Given the description of an element on the screen output the (x, y) to click on. 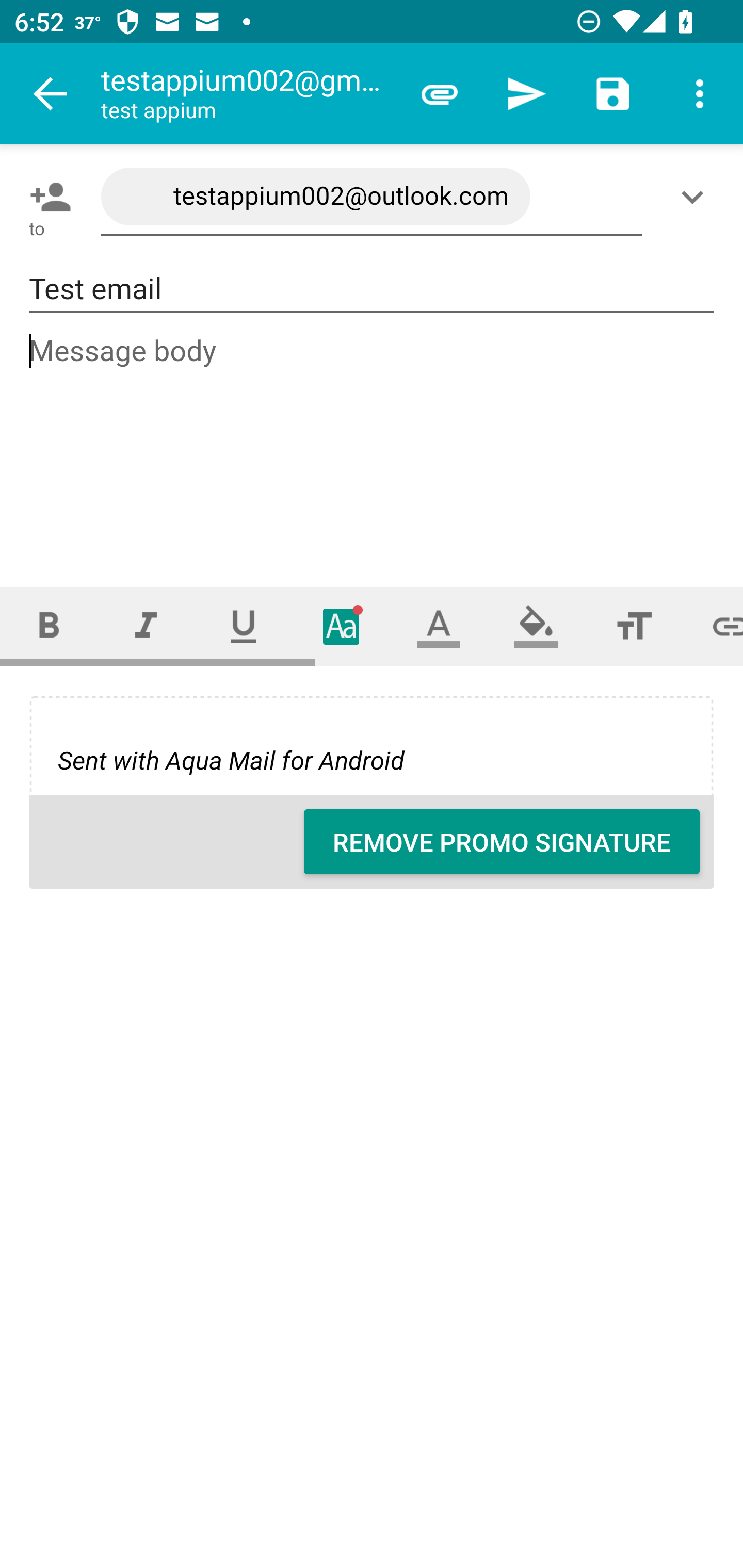
Navigate up (50, 93)
testappium002@gmail.com test appium (248, 93)
Attach (439, 93)
Send (525, 93)
Save (612, 93)
More options (699, 93)
testappium002@outlook.com,  (371, 197)
Pick contact: To (46, 196)
Show/Add CC/BCC (696, 196)
Test email (371, 288)
Message body (372, 442)
Bold (48, 626)
Italic (145, 626)
Underline (243, 626)
Typeface (font) (341, 626)
Text color (438, 626)
Fill color (536, 626)
Font size (633, 626)
REMOVE PROMO SIGNATURE (501, 841)
